Given the description of an element on the screen output the (x, y) to click on. 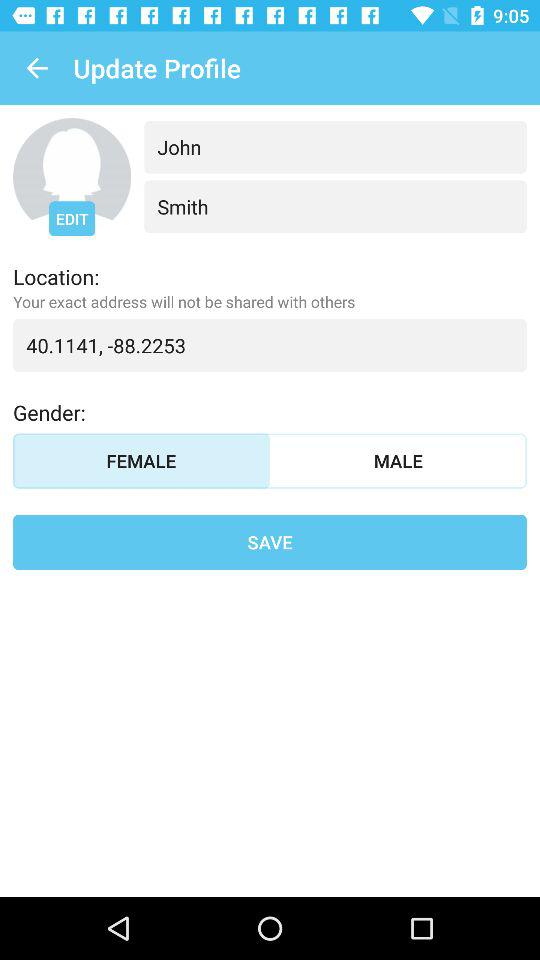
click to edit photo or personal details (72, 177)
